Given the description of an element on the screen output the (x, y) to click on. 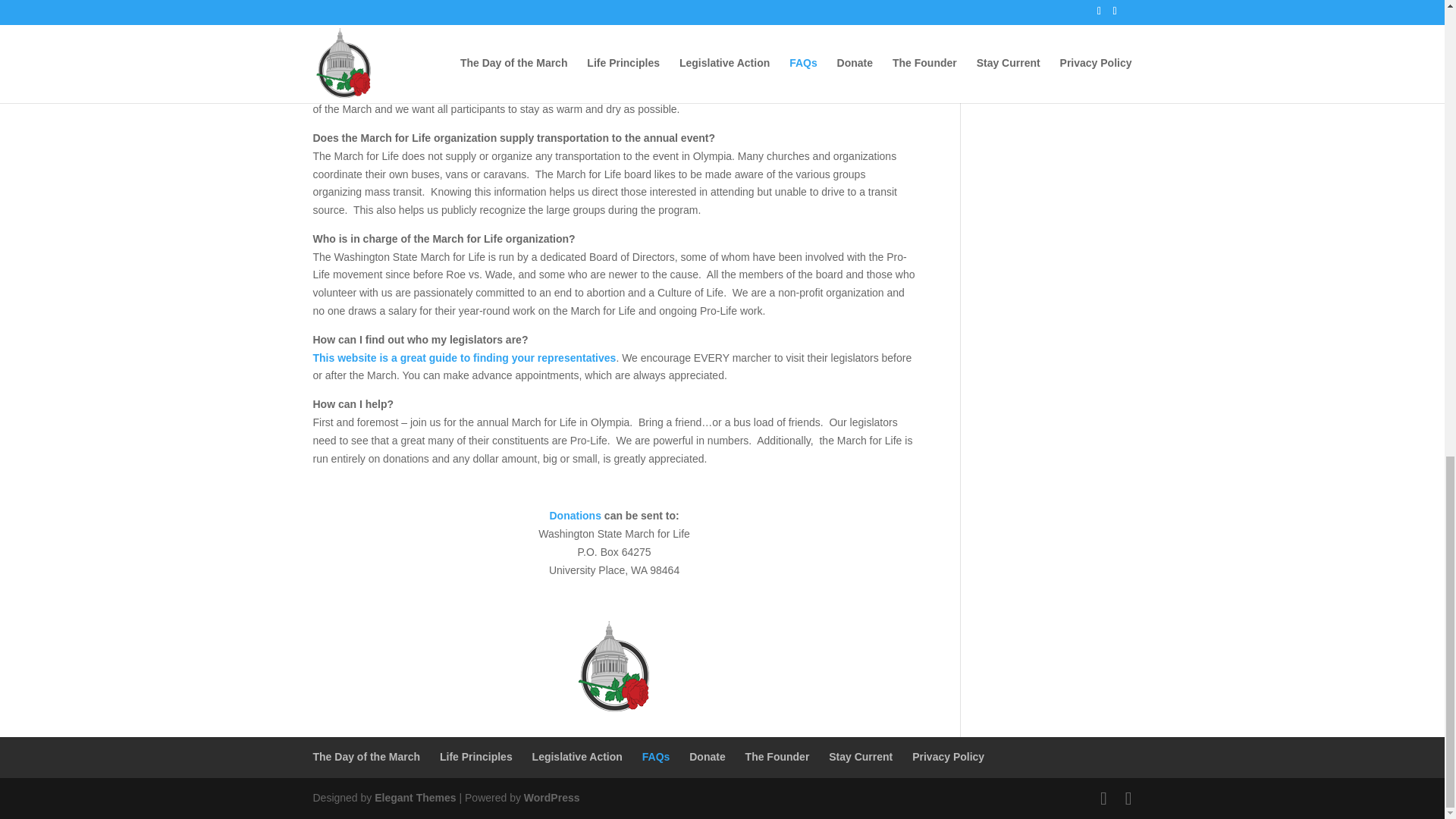
Elegant Themes (414, 797)
Donate (706, 756)
The Founder (777, 756)
Premium WordPress Themes (414, 797)
Legislative Action (577, 756)
The Day of the March (366, 756)
WordPress (551, 797)
Privacy Policy (948, 756)
FAQs (655, 756)
Life Principles (475, 756)
